Given the description of an element on the screen output the (x, y) to click on. 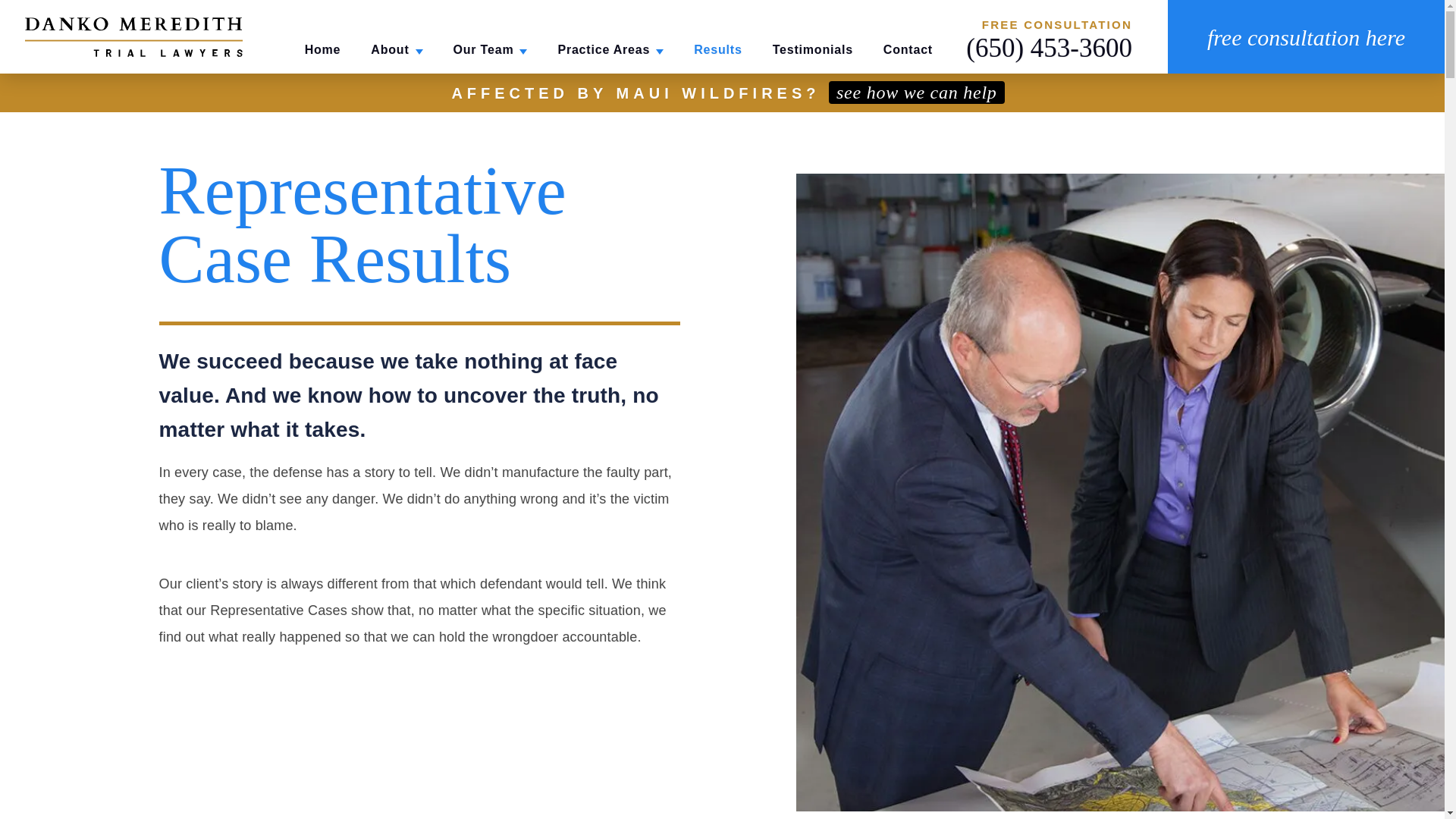
Testimonials (813, 49)
About (396, 49)
Our Team (489, 49)
see how we can help (916, 92)
Home (322, 49)
Practice Areas (610, 49)
Contact (908, 49)
Results (717, 49)
